Given the description of an element on the screen output the (x, y) to click on. 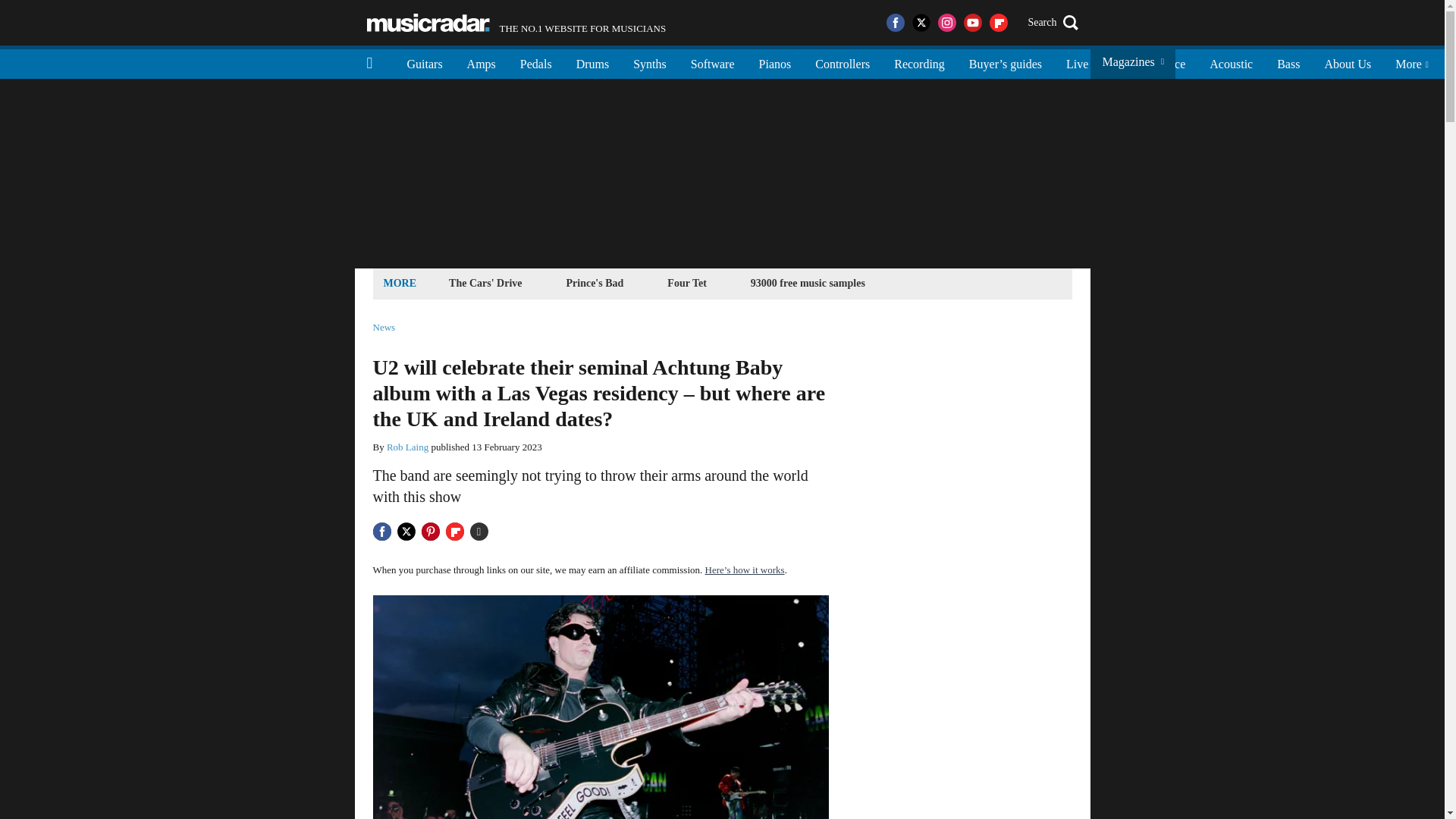
Guitars (424, 61)
Software (712, 61)
Rob Laing (407, 446)
Advice (1167, 61)
Bass (1288, 61)
Music Radar (427, 22)
Prince's Bad (594, 282)
93000 free music samples (807, 282)
Pianos (774, 61)
Pedals (516, 22)
Drums (536, 61)
DJ (592, 61)
Synths (1119, 61)
The Cars' Drive (649, 61)
